Given the description of an element on the screen output the (x, y) to click on. 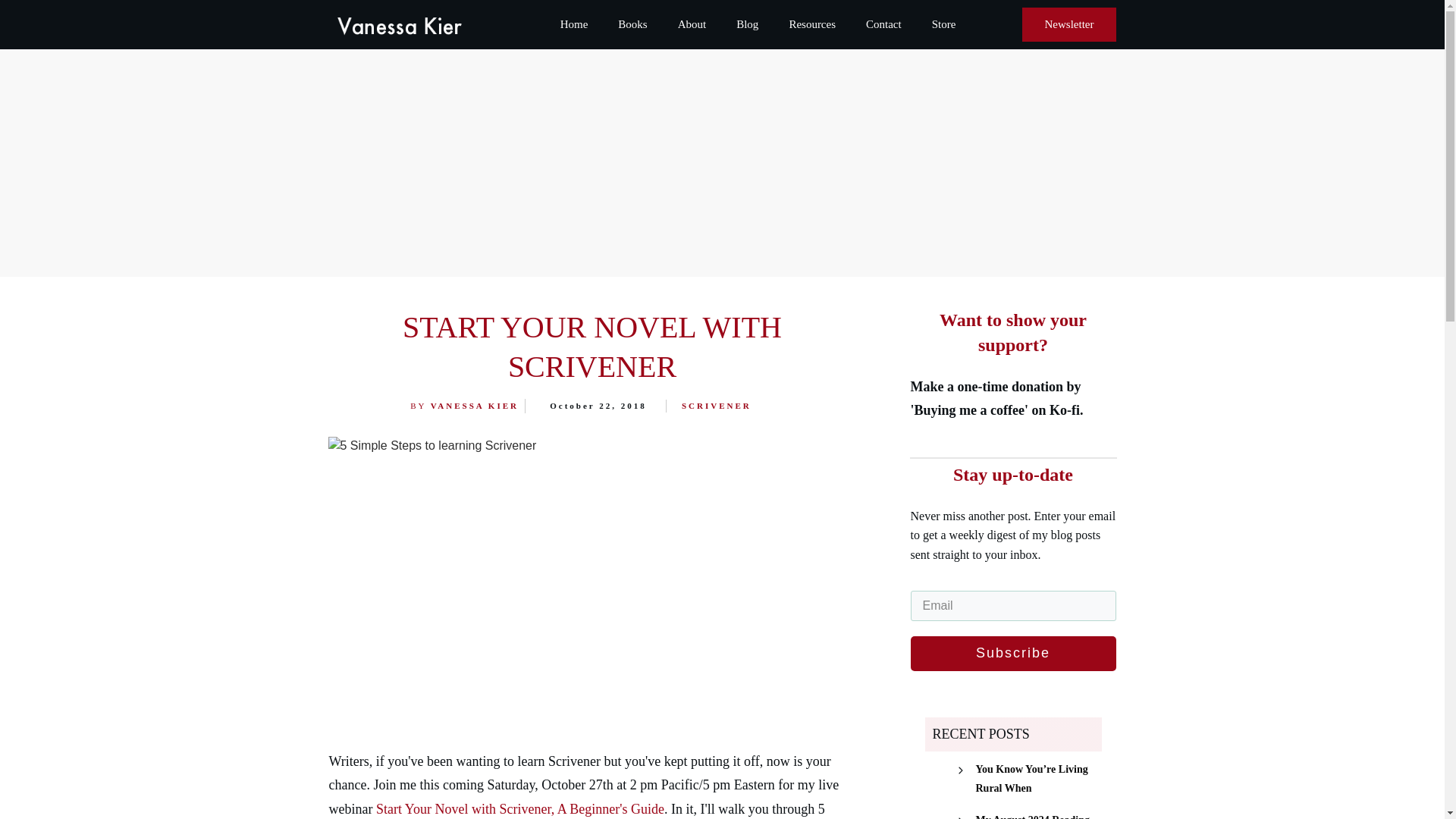
About (692, 24)
Start Your Novel with Scrivener, A Beginner's Guide (519, 808)
VANESSA KIER (474, 405)
START YOUR NOVEL WITH SCRIVENER (592, 347)
SCRIVENER (716, 405)
Contact (883, 24)
Store (943, 24)
Scrivener (716, 405)
Newsletter (1069, 24)
Blog (747, 24)
